Given the description of an element on the screen output the (x, y) to click on. 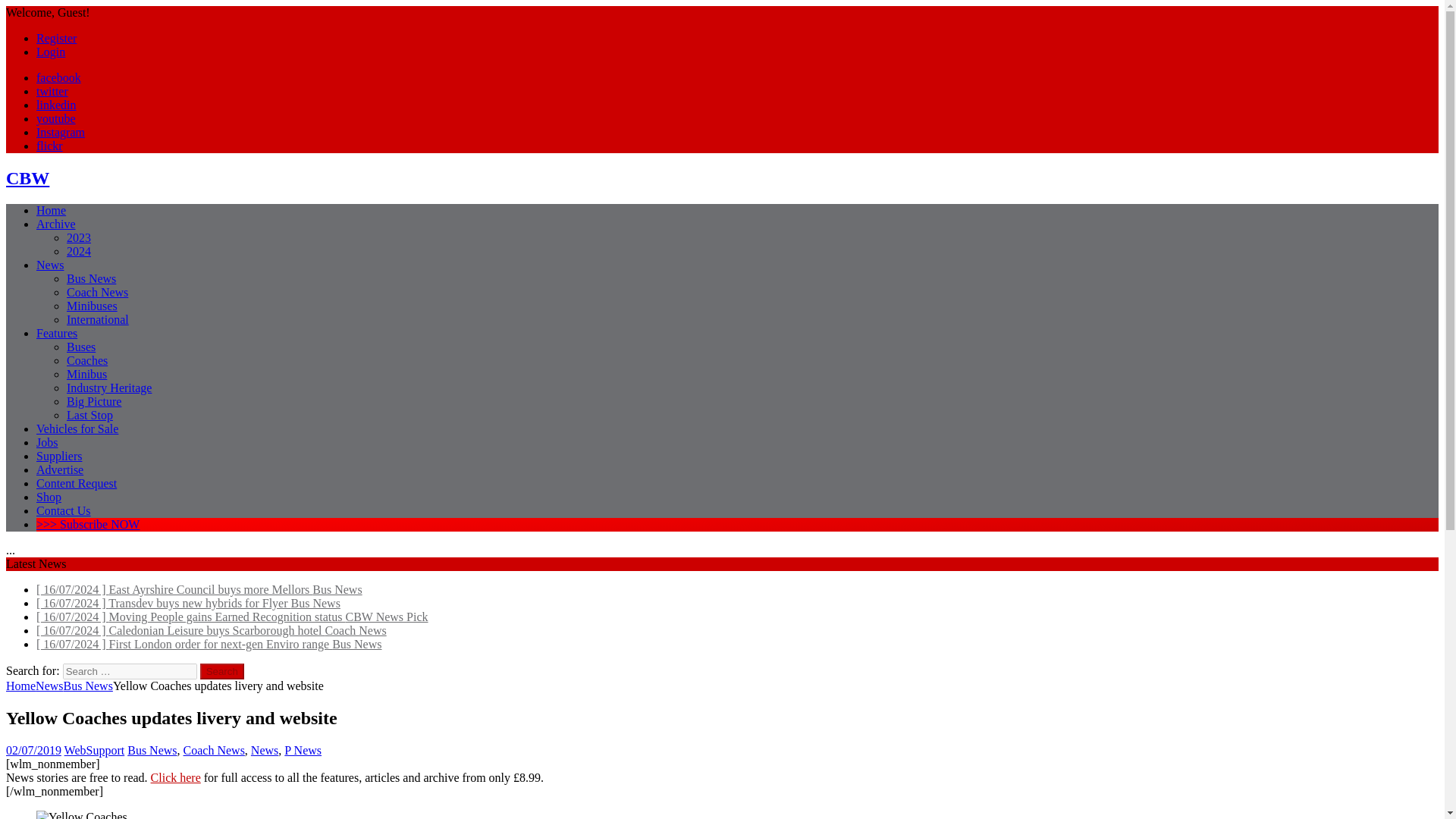
Shop (48, 496)
youtube (55, 118)
Search (222, 671)
Search (222, 671)
Caledonian Leisure buys Scarborough hotel (211, 630)
Vehicles for Sale (76, 428)
Login (50, 51)
Bus News (91, 278)
Coaches (86, 359)
linkedin (55, 104)
flickr (49, 145)
Archive (55, 223)
Transdev buys new hybrids for Flyer (188, 603)
East Ayrshire Council buys more Mellors (199, 589)
First London order for next-gen Enviro range (208, 644)
